Given the description of an element on the screen output the (x, y) to click on. 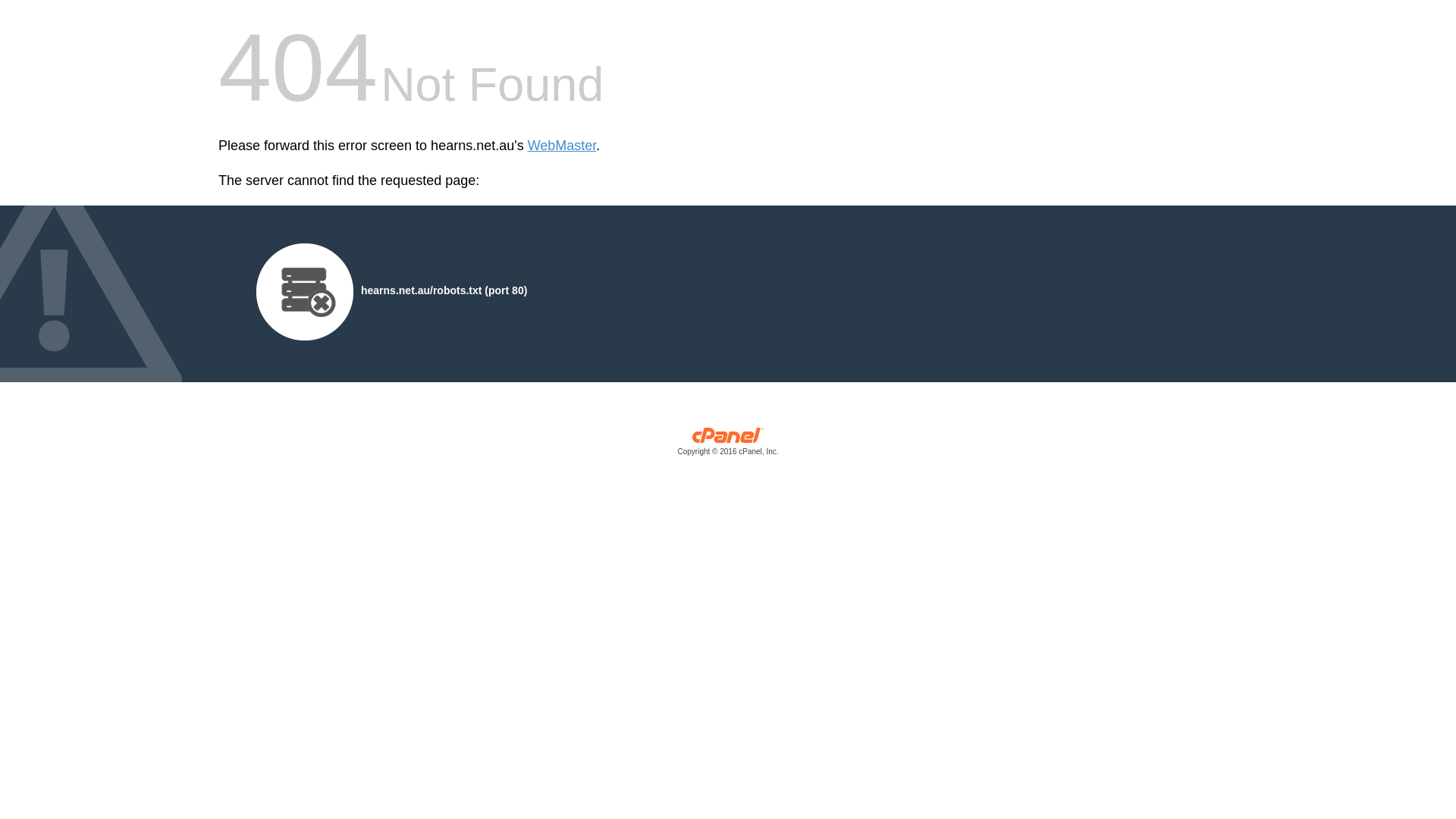
WebMaster Element type: text (561, 145)
